Given the description of an element on the screen output the (x, y) to click on. 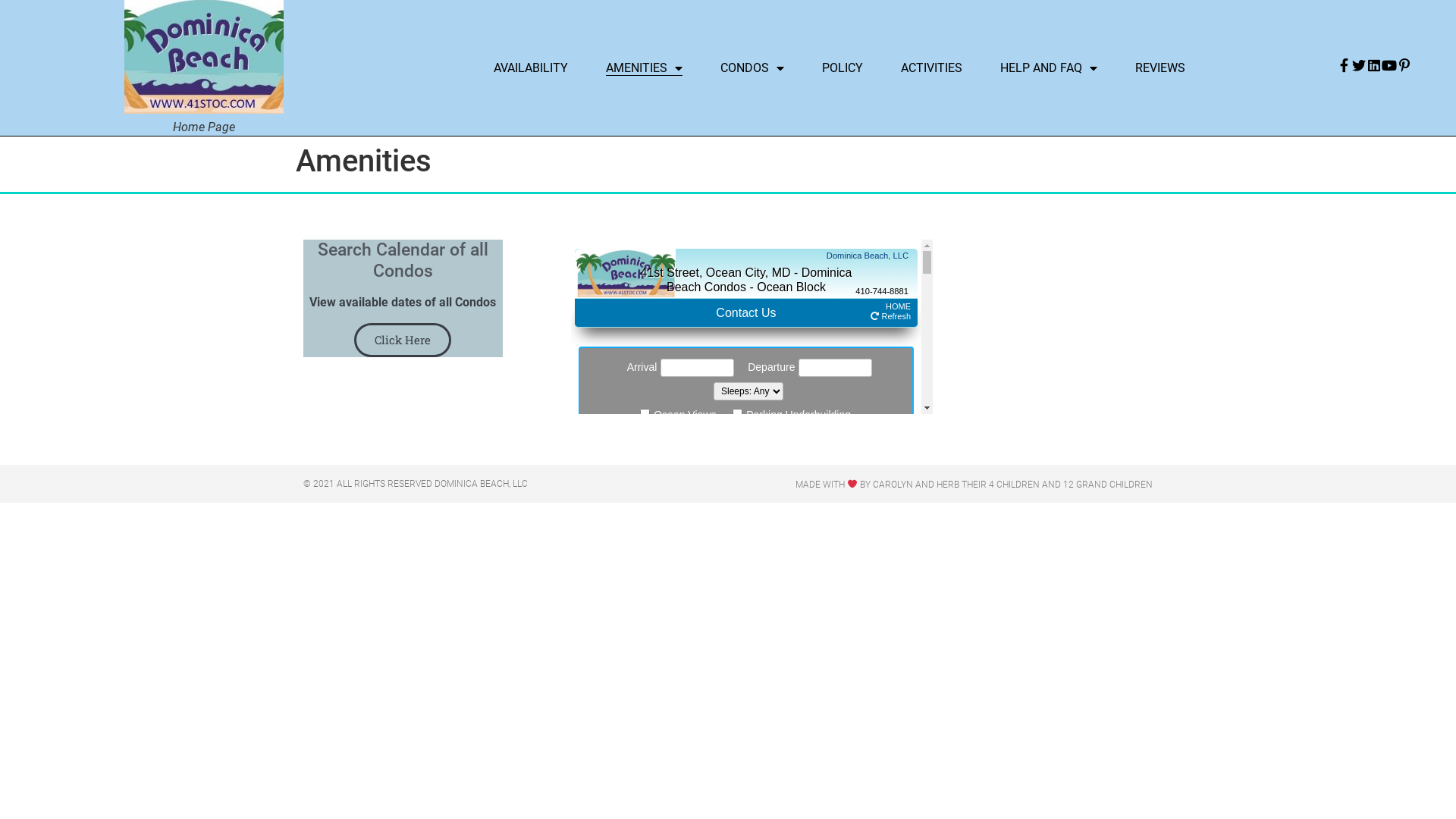
POLICY Element type: text (842, 67)
REVIEWS Element type: text (1160, 67)
HELP AND FAQ Element type: text (1048, 67)
DOMINICA BEACH wide Element type: hover (203, 56)
CONDOS Element type: text (752, 67)
ACTIVITIES Element type: text (931, 67)
AMENITIES Element type: text (643, 67)
AVAILABILITY Element type: text (530, 67)
5 41st Street Ocean City md Element type: hover (1049, 293)
